Given the description of an element on the screen output the (x, y) to click on. 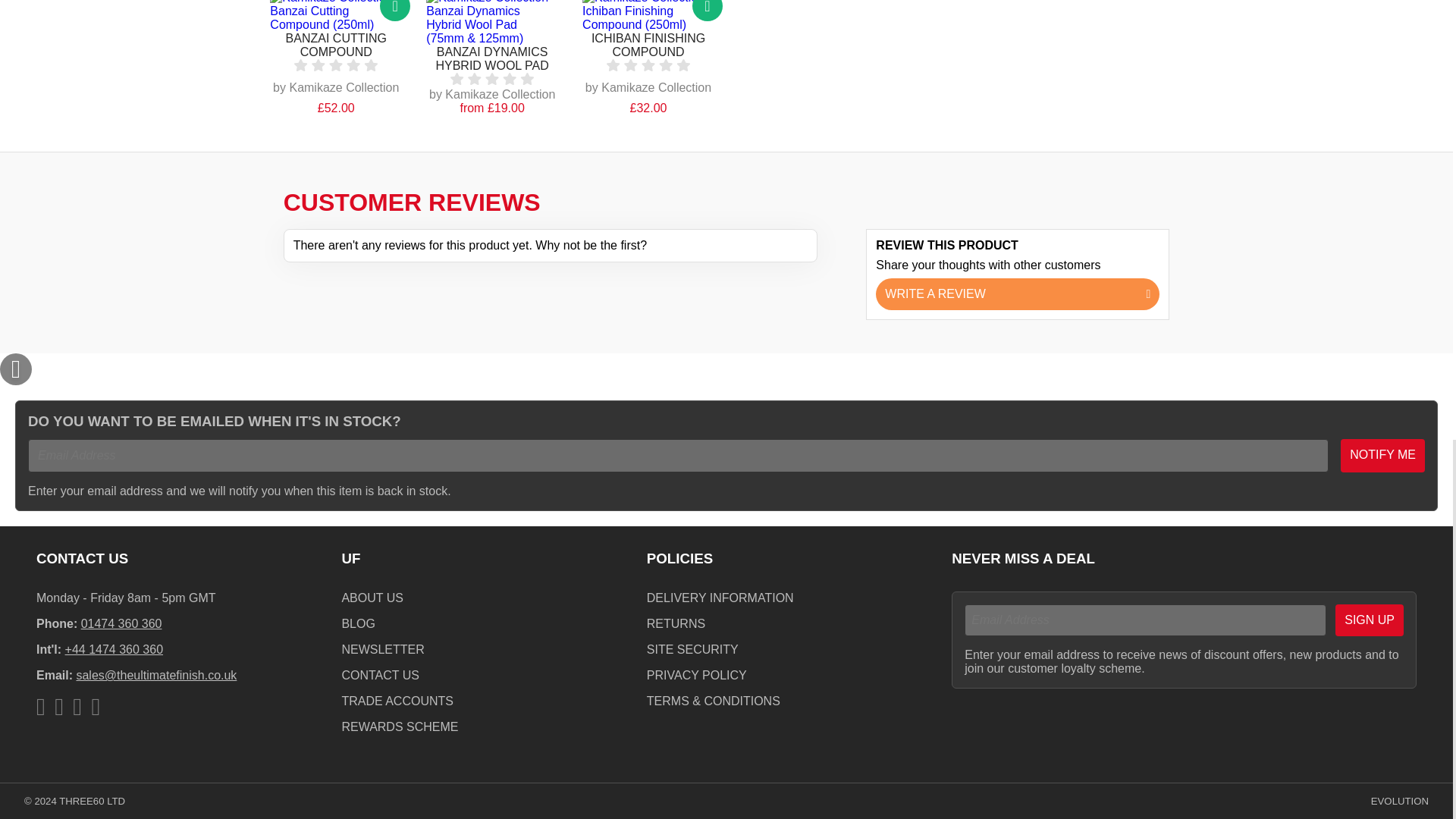
Sign Up (1369, 620)
